Given the description of an element on the screen output the (x, y) to click on. 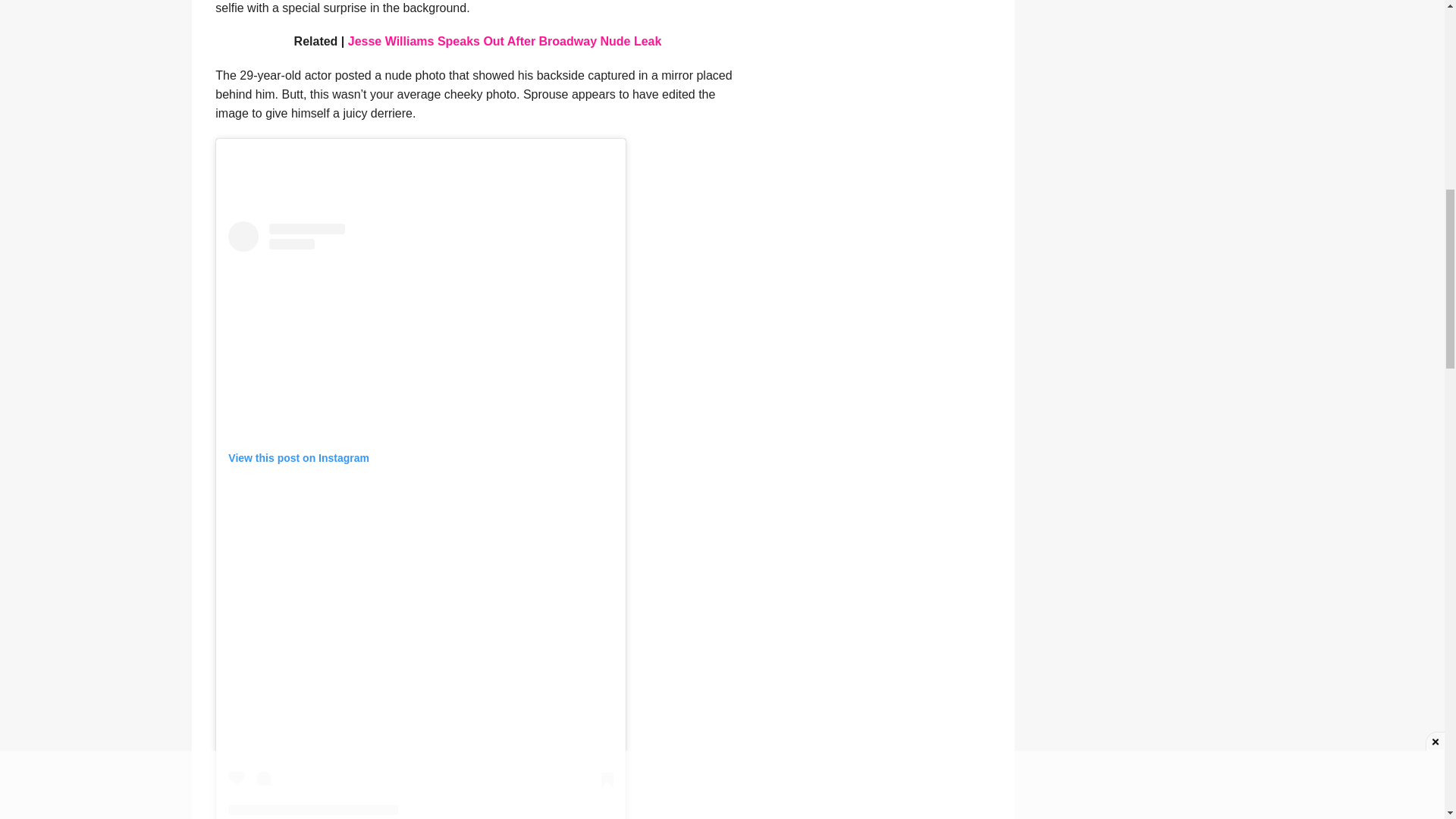
Jesse Williams Speaks Out After Broadway Nude Leak (504, 41)
